Given the description of an element on the screen output the (x, y) to click on. 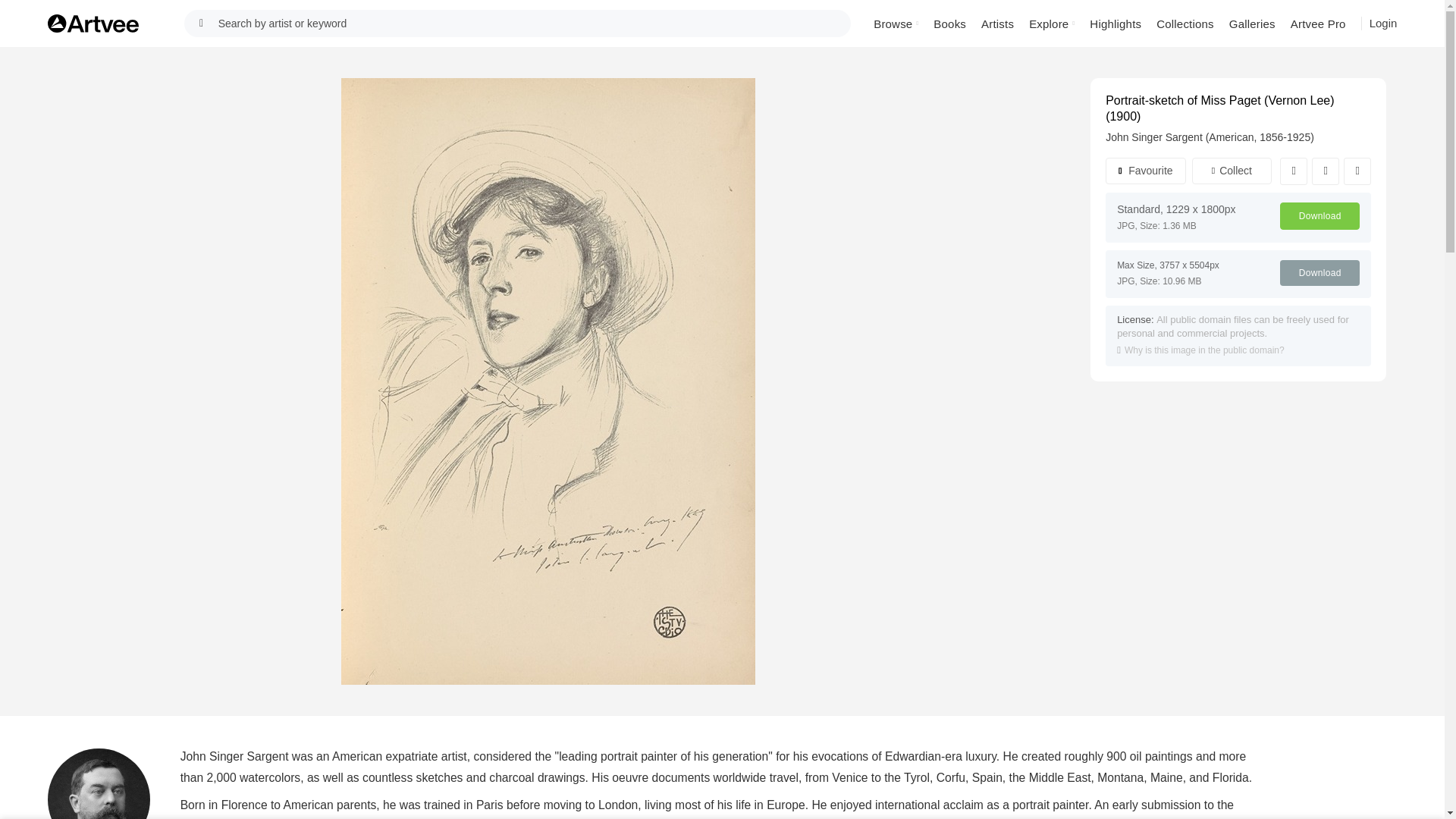
Download (1319, 272)
Login (1383, 22)
John Singer Sargent (98, 783)
Books (950, 23)
Collections (1184, 23)
Favourite (1145, 171)
Pinterest (1357, 171)
Explore (1051, 23)
Galleries (1251, 23)
John Singer Sargent (1153, 137)
Artvee Pro (1318, 23)
Facebook (1293, 171)
Download (1319, 216)
Artists (998, 23)
SEARCH (201, 22)
